Given the description of an element on the screen output the (x, y) to click on. 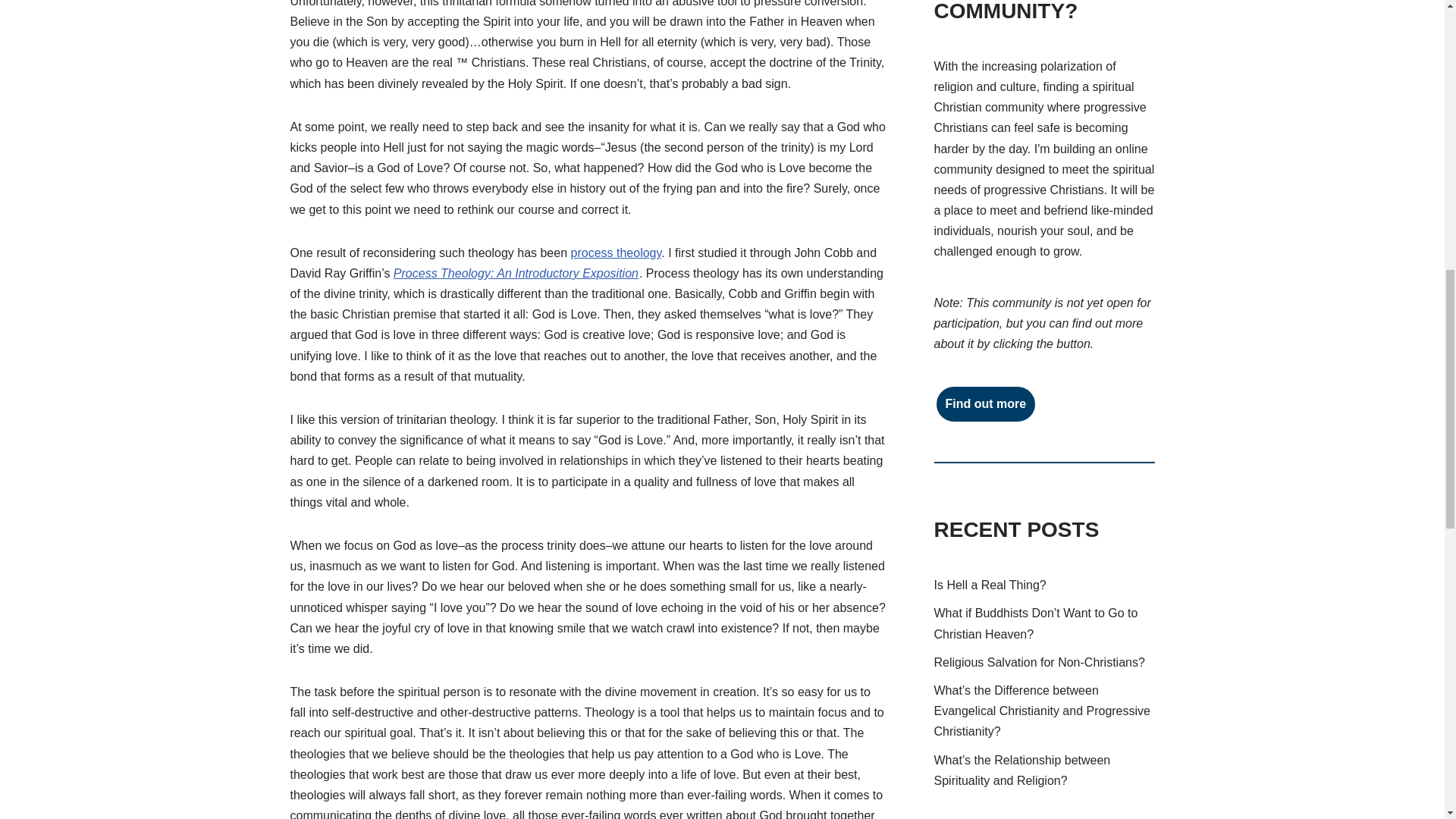
Is Hell a Real Thing? (990, 584)
process theology (616, 252)
Find out more (986, 404)
Religious Salvation for Non-Christians? (1039, 662)
Process Theology: An Introductory Exposition (516, 273)
